Given the description of an element on the screen output the (x, y) to click on. 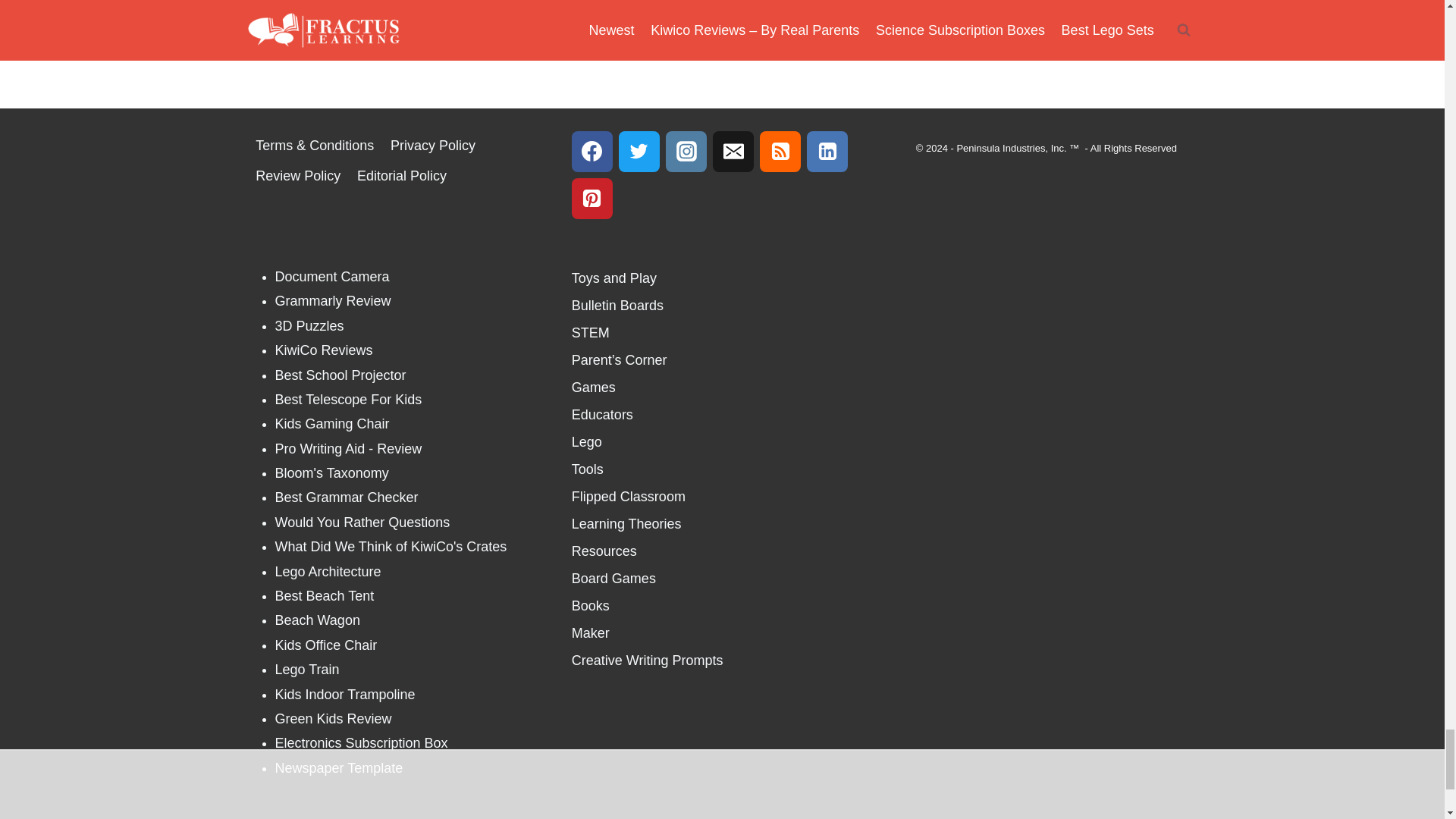
grammarly reviews (332, 300)
best telescope for beginners (348, 399)
Gaming Chair For Kids (331, 423)
Kiwico Box (323, 350)
classroom projector (340, 375)
3D Puzzles For Kids (309, 325)
best document camera (331, 276)
